Given the description of an element on the screen output the (x, y) to click on. 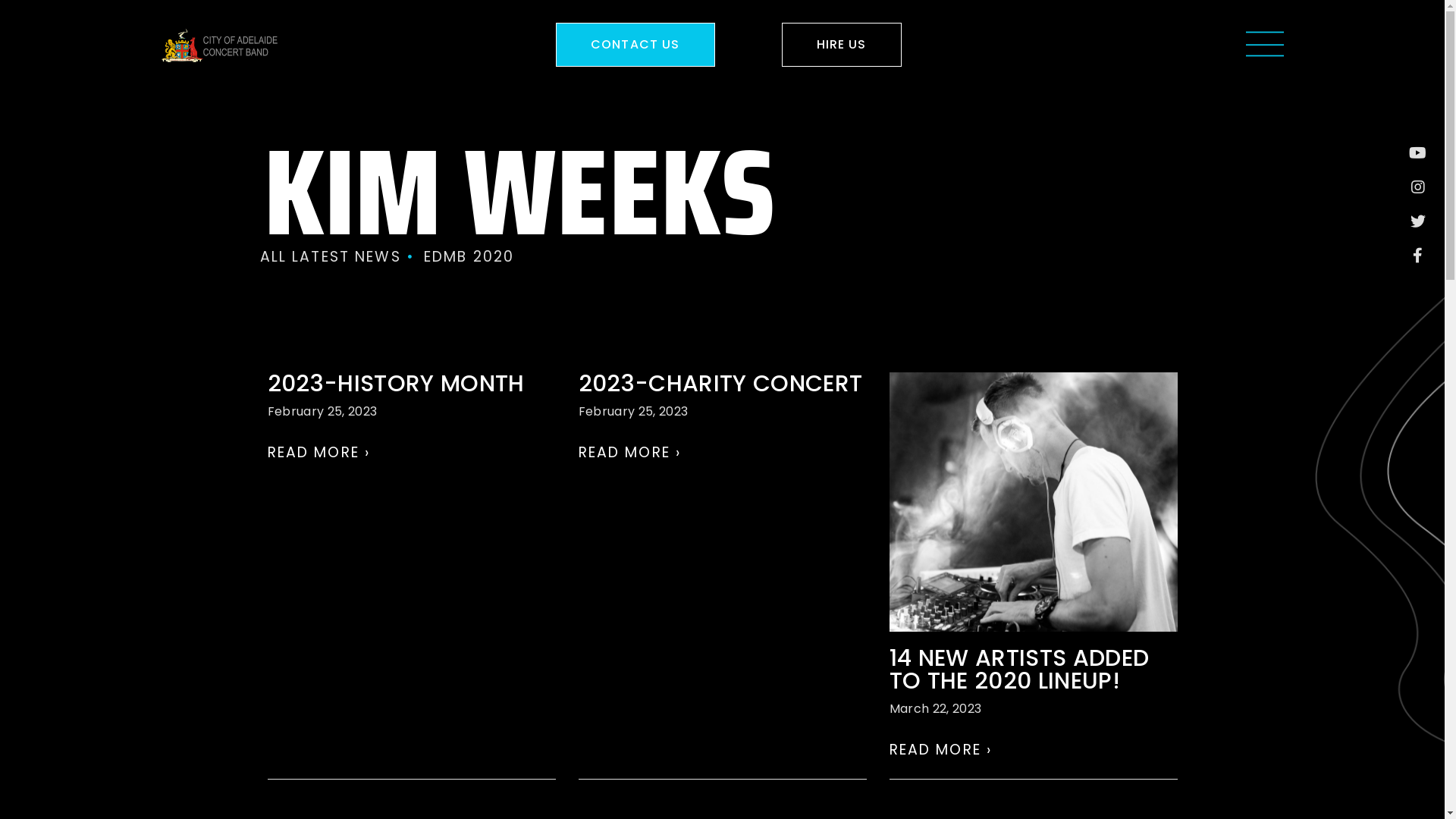
2023-CHARITY CONCERT Element type: text (719, 383)
HIRE US Element type: text (841, 44)
14 NEW ARTISTS ADDED TO THE 2020 LINEUP! Element type: text (1018, 669)
2023-HISTORY MONTH Element type: text (395, 383)
CONTACT US Element type: text (635, 44)
